Given the description of an element on the screen output the (x, y) to click on. 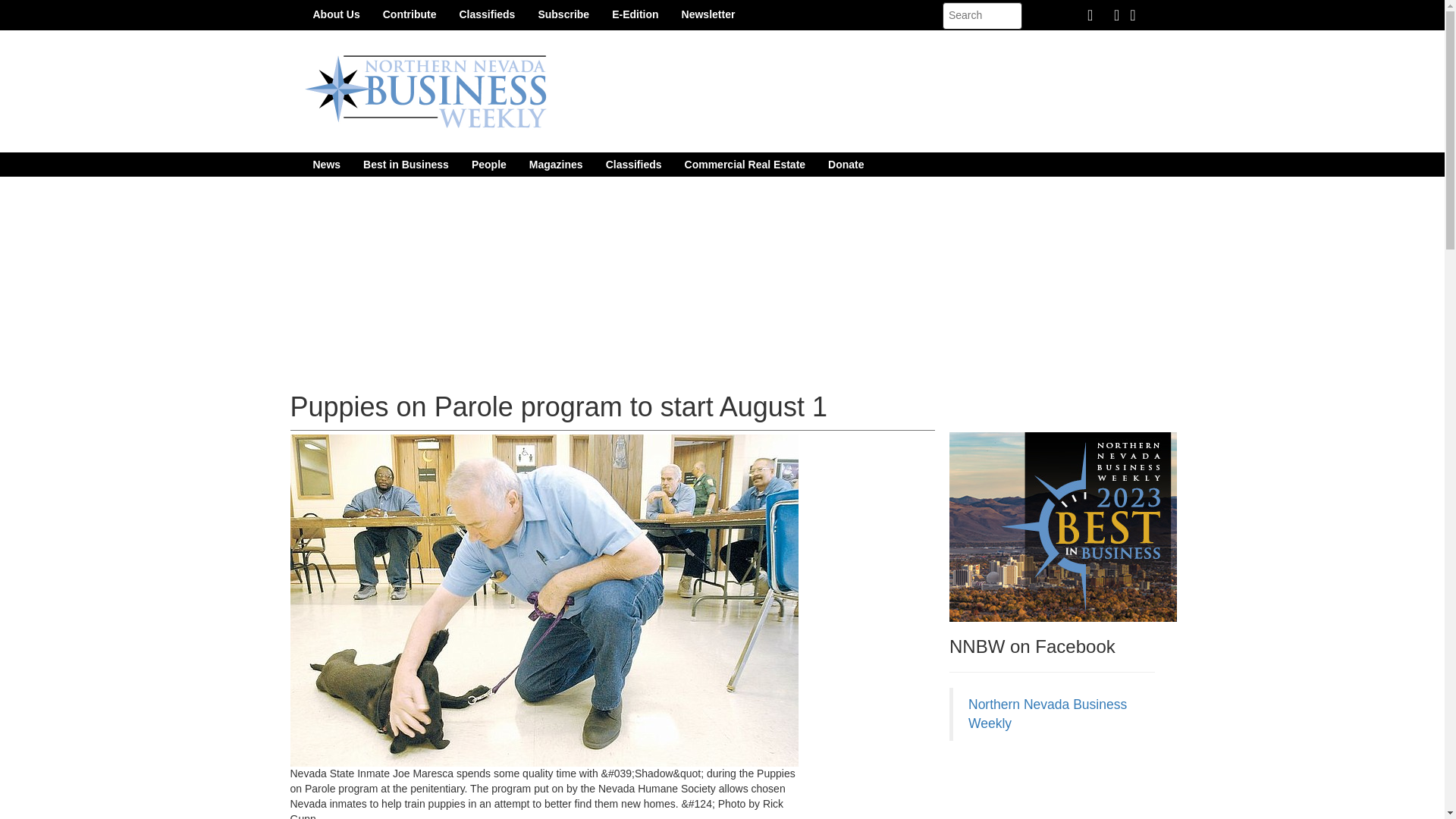
E-Edition (634, 14)
Best in Business (406, 164)
Classifieds (633, 164)
Subscribe (562, 14)
Commercial Real Estate (744, 164)
News (326, 164)
Classifieds (485, 14)
About Us (336, 14)
Magazines (556, 164)
People (489, 164)
Donate (845, 164)
Newsletter (707, 14)
Contribute (409, 14)
3rd party ad content (1062, 787)
